Given the description of an element on the screen output the (x, y) to click on. 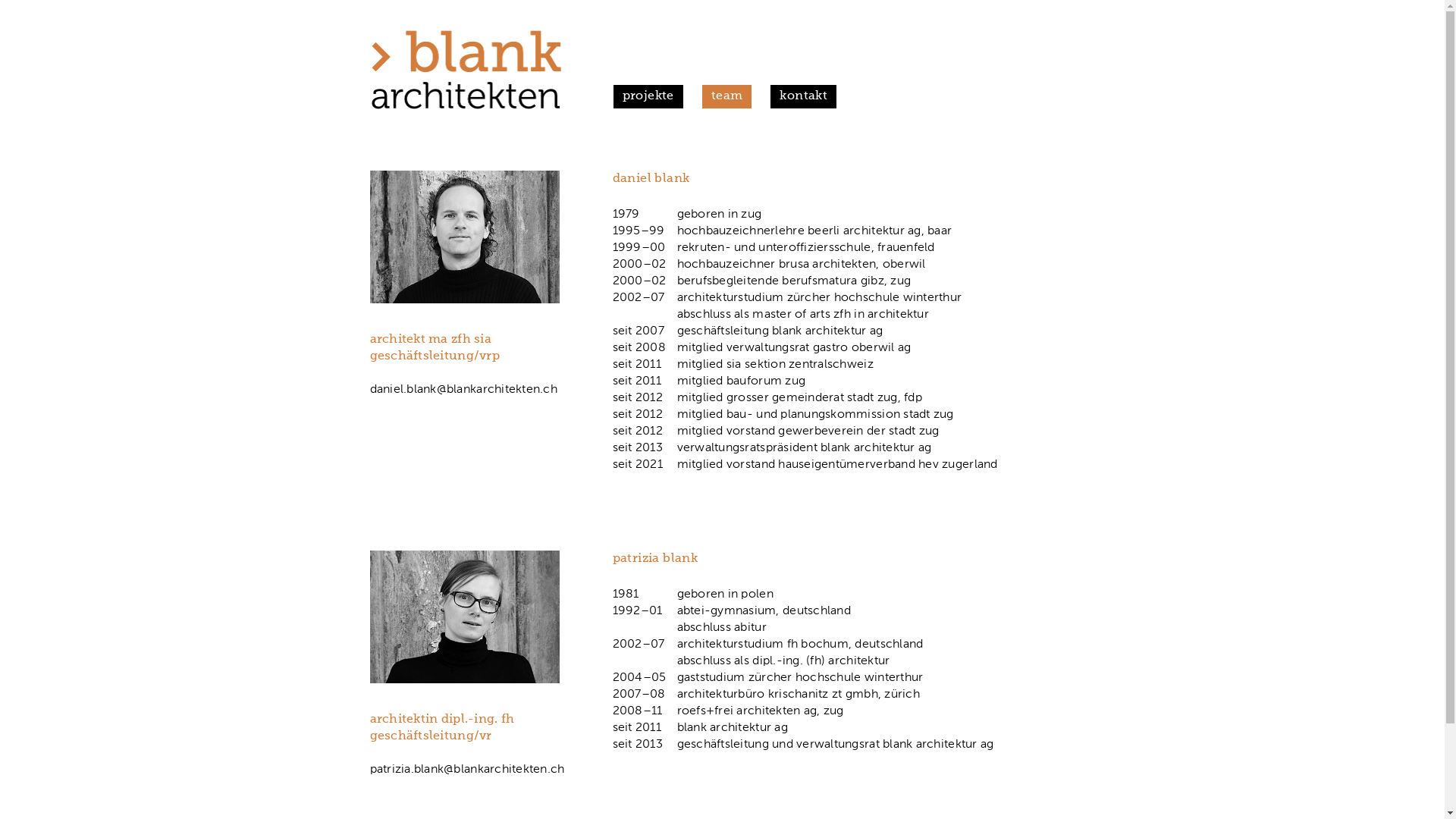
team Element type: text (727, 96)
patrizia.blank@blankarchitekten.ch Element type: text (467, 768)
projekte Element type: text (647, 96)
daniel.blank@blankarchitekten.ch Element type: text (464, 389)
kontakt Element type: text (803, 96)
